Given the description of an element on the screen output the (x, y) to click on. 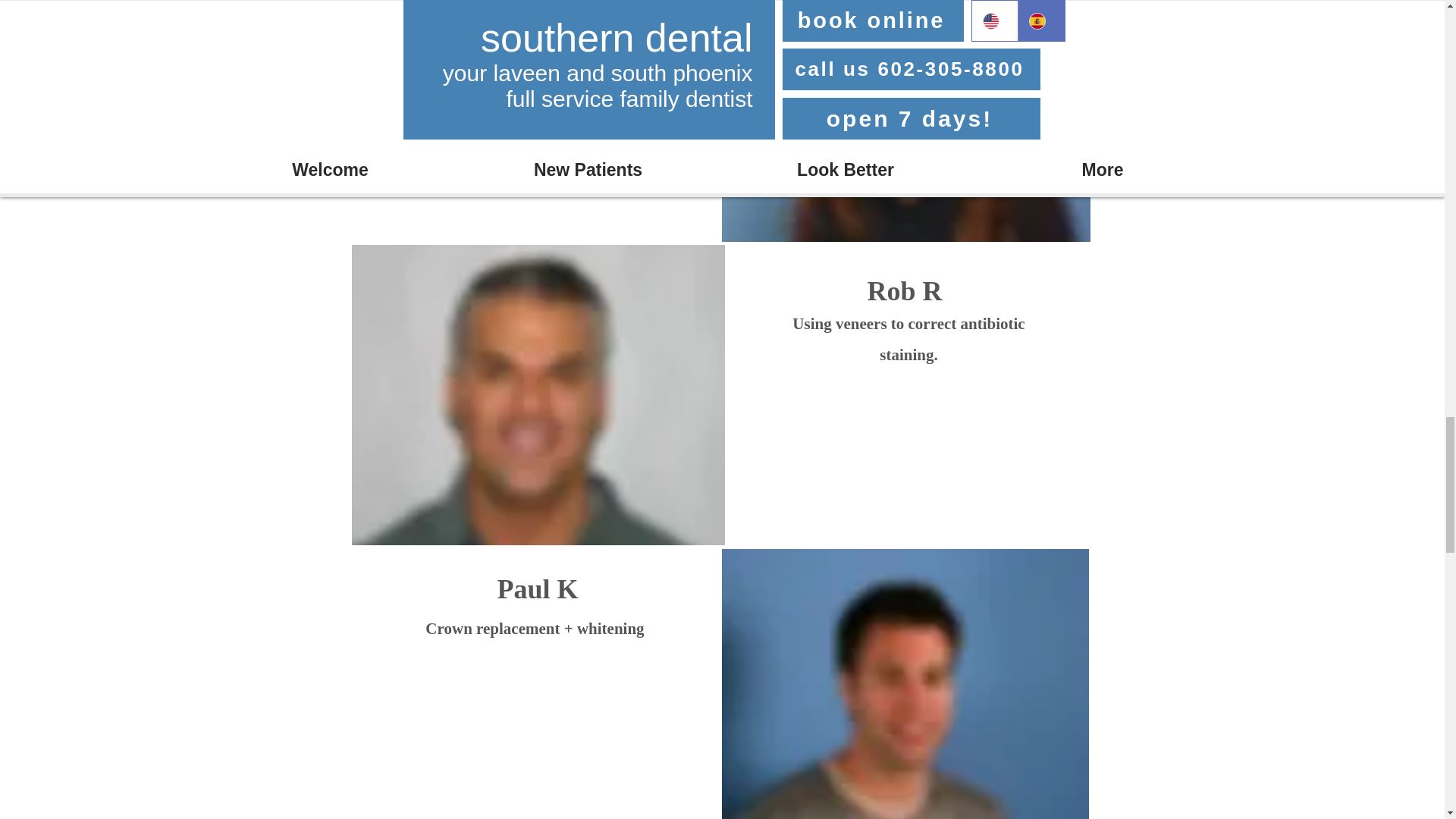
Invisalign Veneers 2.JPG (906, 120)
Invisalign Veneers 2.JPG (538, 394)
Invisalign Veneers 2.JPG (905, 683)
